Given the description of an element on the screen output the (x, y) to click on. 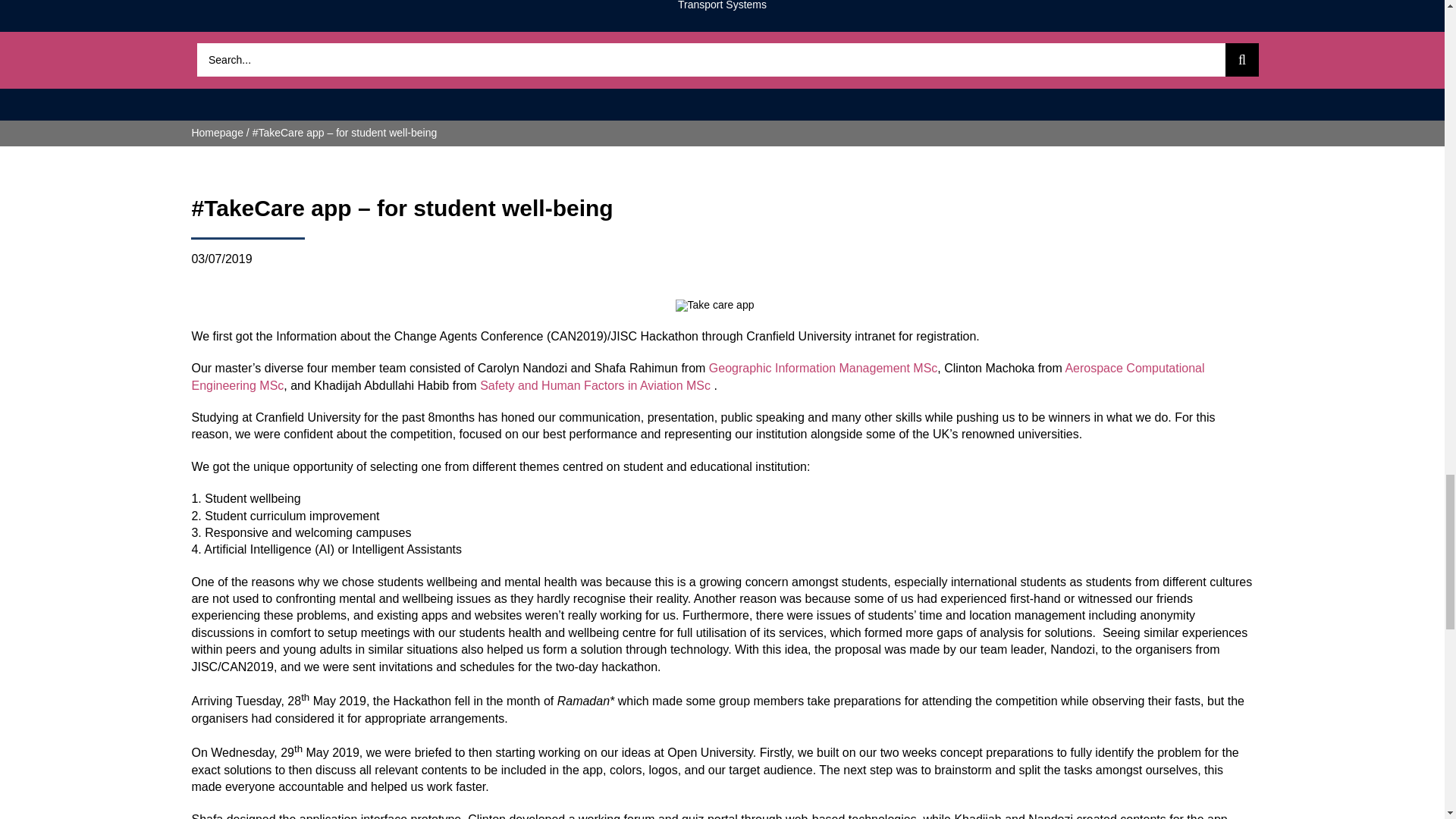
take care (714, 305)
